Given the description of an element on the screen output the (x, y) to click on. 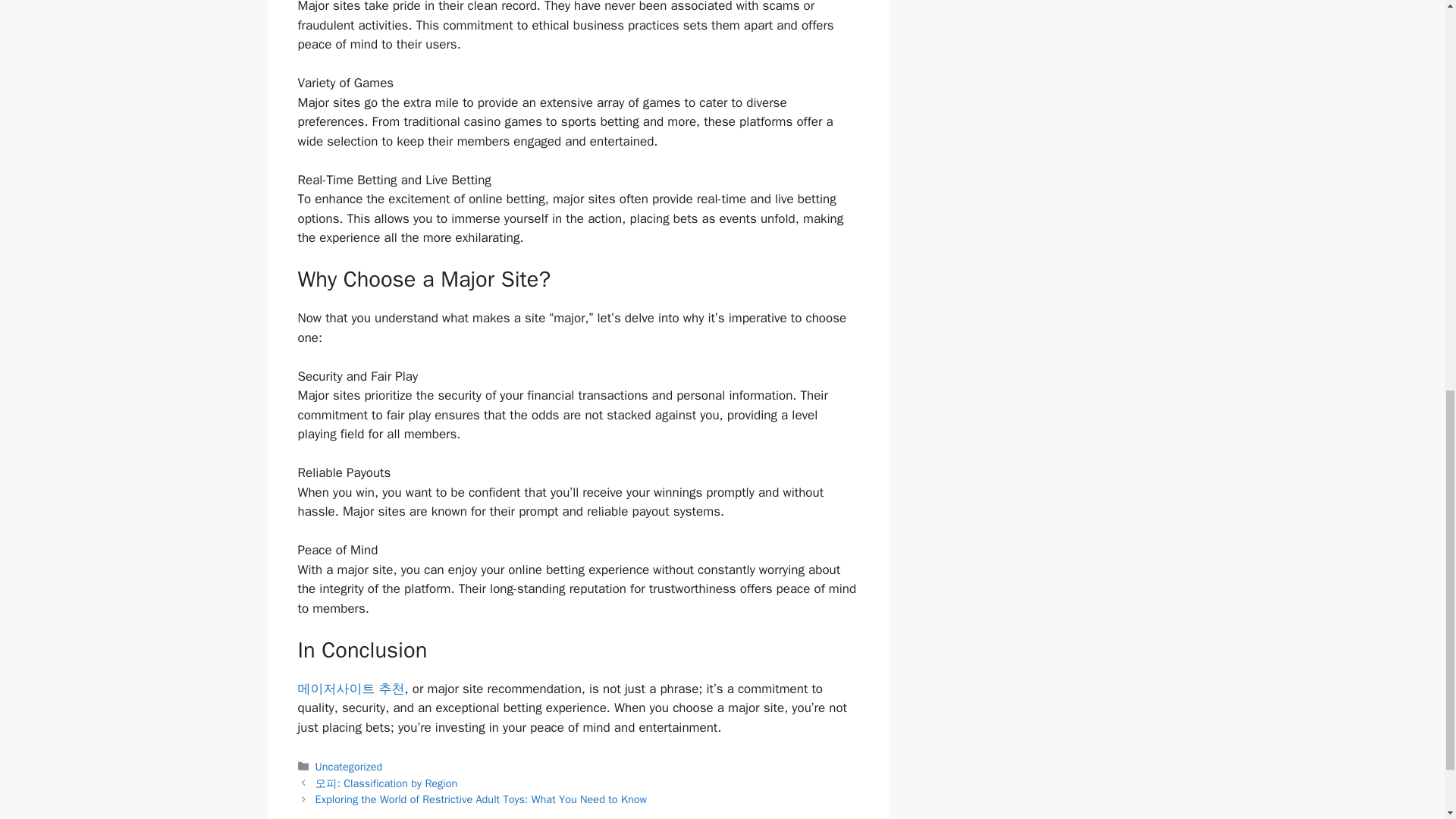
Uncategorized (348, 766)
